Given the description of an element on the screen output the (x, y) to click on. 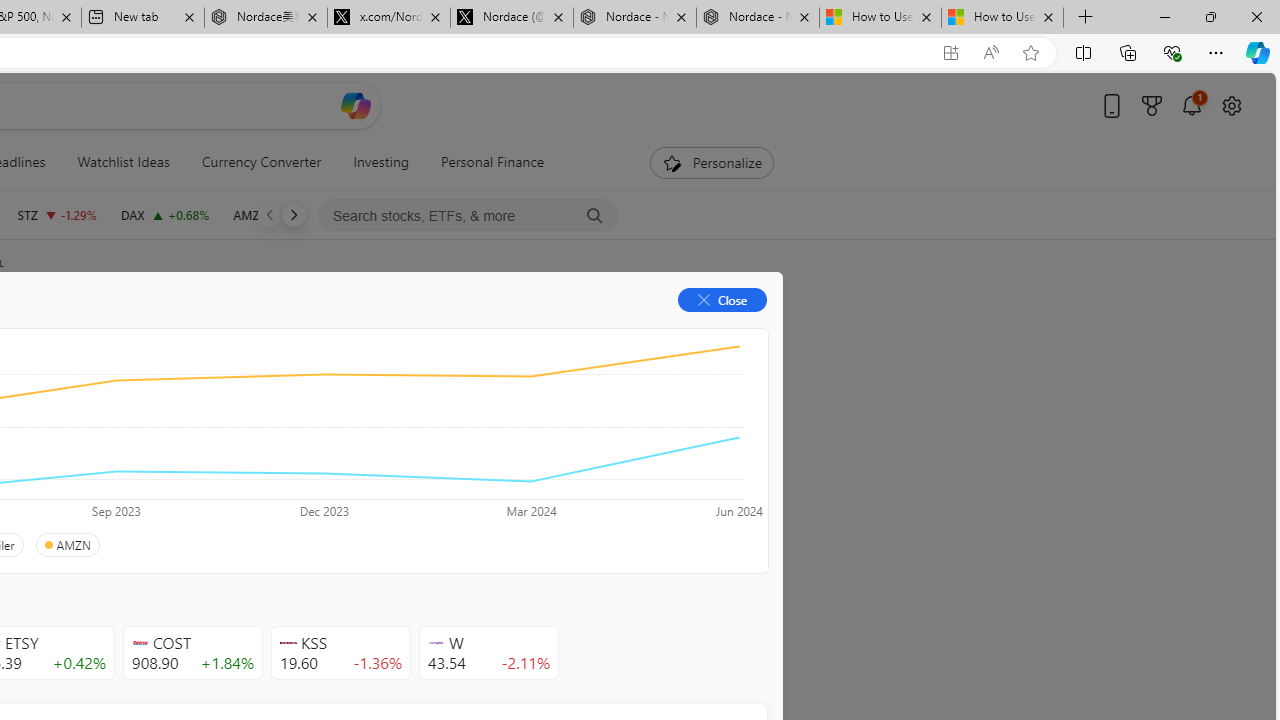
Split screen (1083, 52)
Watchlist Ideas (123, 162)
Personal Finance (493, 162)
New tab (142, 17)
Analysis (305, 331)
Options (693, 331)
Settings and more (Alt+F) (1215, 52)
Browser essentials (1171, 52)
x.com/NordaceOfficial (388, 17)
Close tab (1048, 16)
AMZN AMAZON.COM, INC. decrease 173.12 -2.38 -1.36% (280, 214)
Investors (495, 331)
Investing (381, 162)
